Given the description of an element on the screen output the (x, y) to click on. 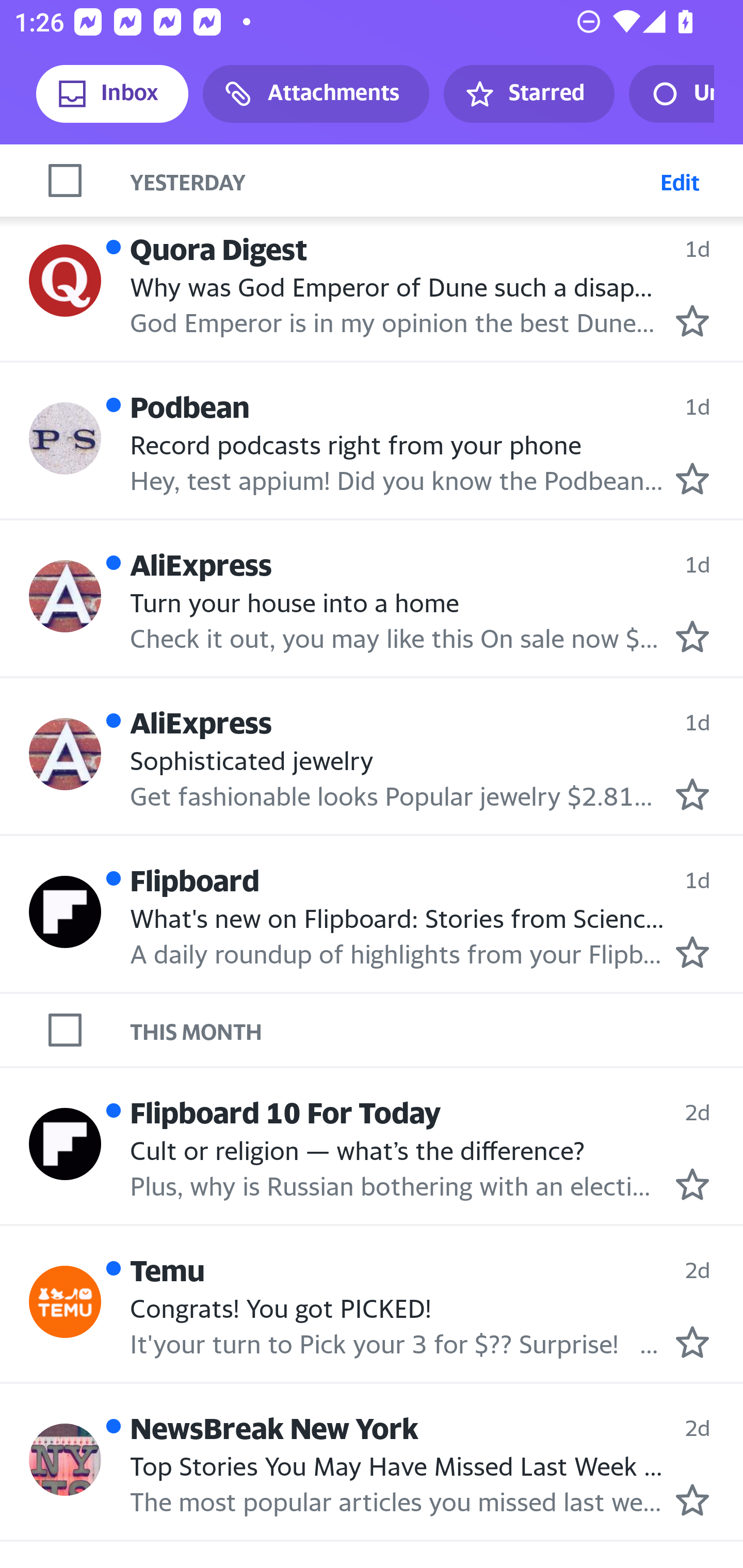
Attachments (315, 93)
Starred (528, 93)
Profile
Quora Digest (64, 280)
Mark as starred. (692, 320)
Profile
Podbean (64, 438)
Mark as starred. (692, 478)
Profile
AliExpress (64, 595)
Mark as starred. (692, 635)
Profile
AliExpress (64, 754)
Mark as starred. (692, 794)
Profile
Flipboard (64, 912)
Mark as starred. (692, 952)
THIS MONTH (436, 1029)
Profile
Flipboard 10 For Today (64, 1144)
Mark as starred. (692, 1184)
Profile
Temu (64, 1301)
Mark as starred. (692, 1341)
Profile
NewsBreak New York (64, 1459)
Mark as starred. (692, 1499)
